Given the description of an element on the screen output the (x, y) to click on. 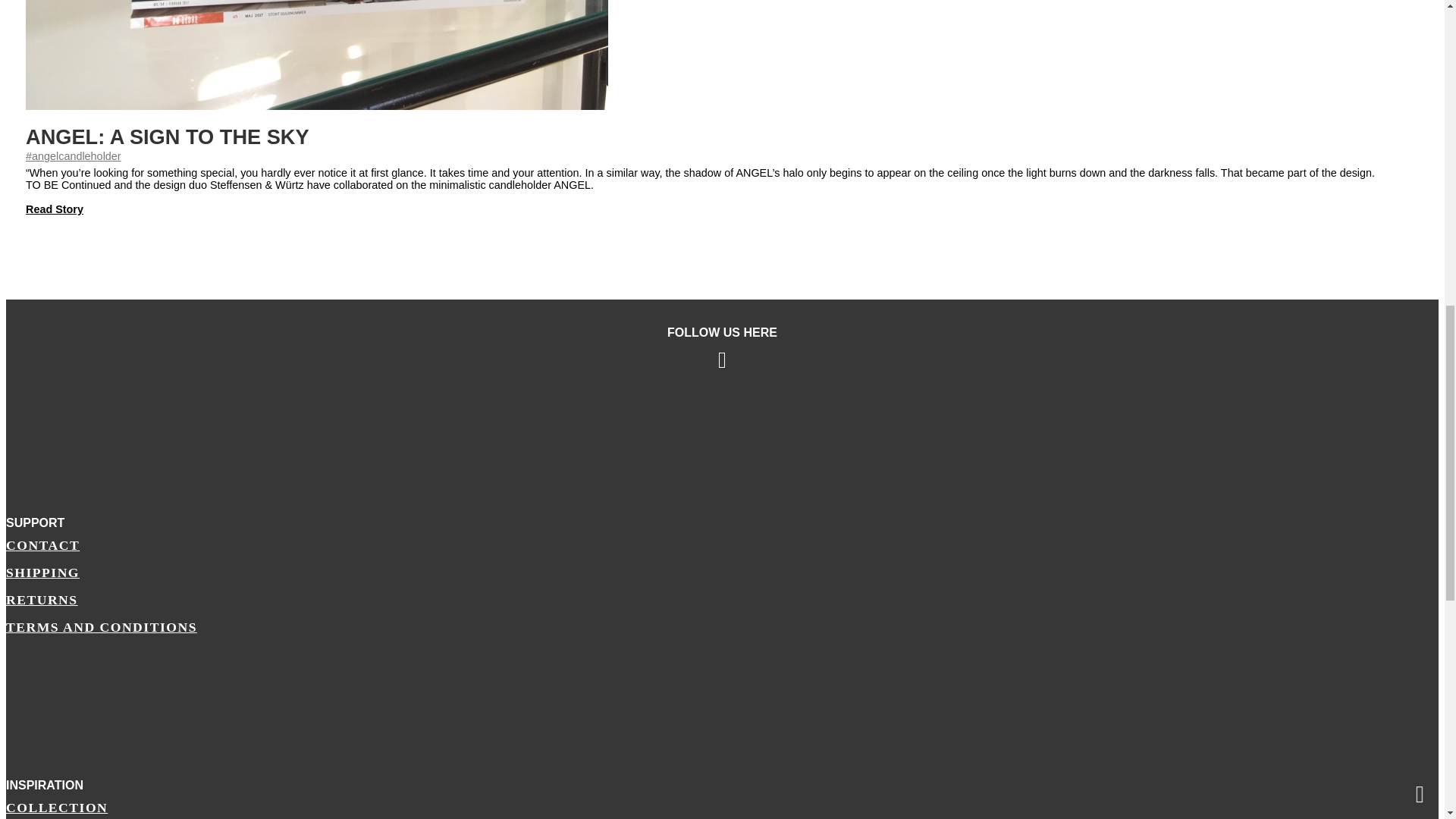
CONTACT (721, 545)
TERMS AND CONDITIONS (721, 627)
RETURNS (721, 600)
ALLOW (1409, 64)
